Given the description of an element on the screen output the (x, y) to click on. 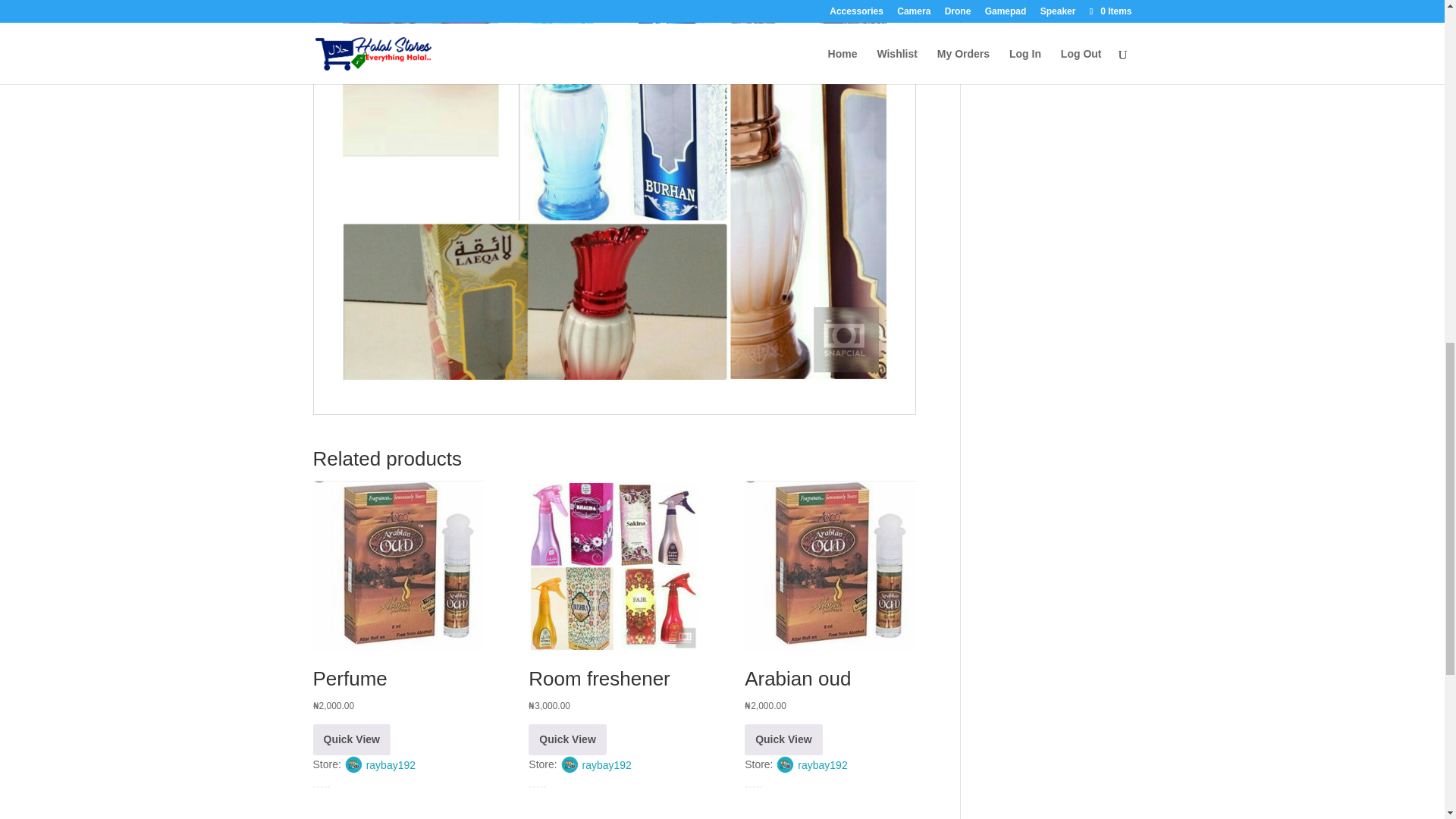
No reviews yet! (344, 782)
No reviews yet! (776, 782)
No reviews yet! (560, 782)
